Given the description of an element on the screen output the (x, y) to click on. 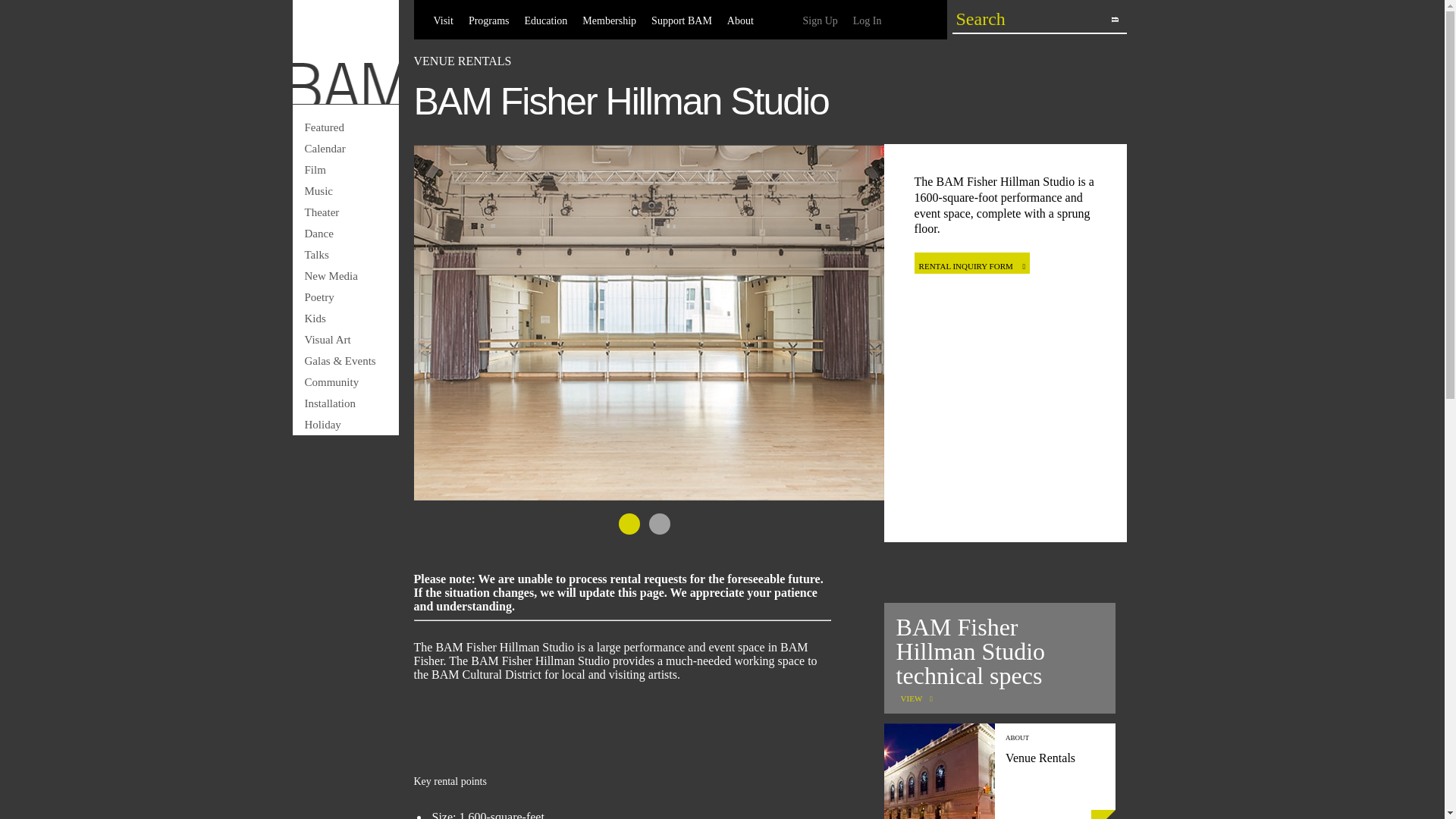
Dance (345, 233)
Dance (345, 233)
New Media (345, 275)
Search (1030, 18)
Talks (345, 254)
Community (345, 382)
Film (345, 169)
Featured (345, 127)
Installation (345, 403)
Theater (345, 211)
Poetry (345, 296)
Kids (345, 318)
Search (1030, 18)
Music (345, 190)
Holiday (345, 424)
